Given the description of an element on the screen output the (x, y) to click on. 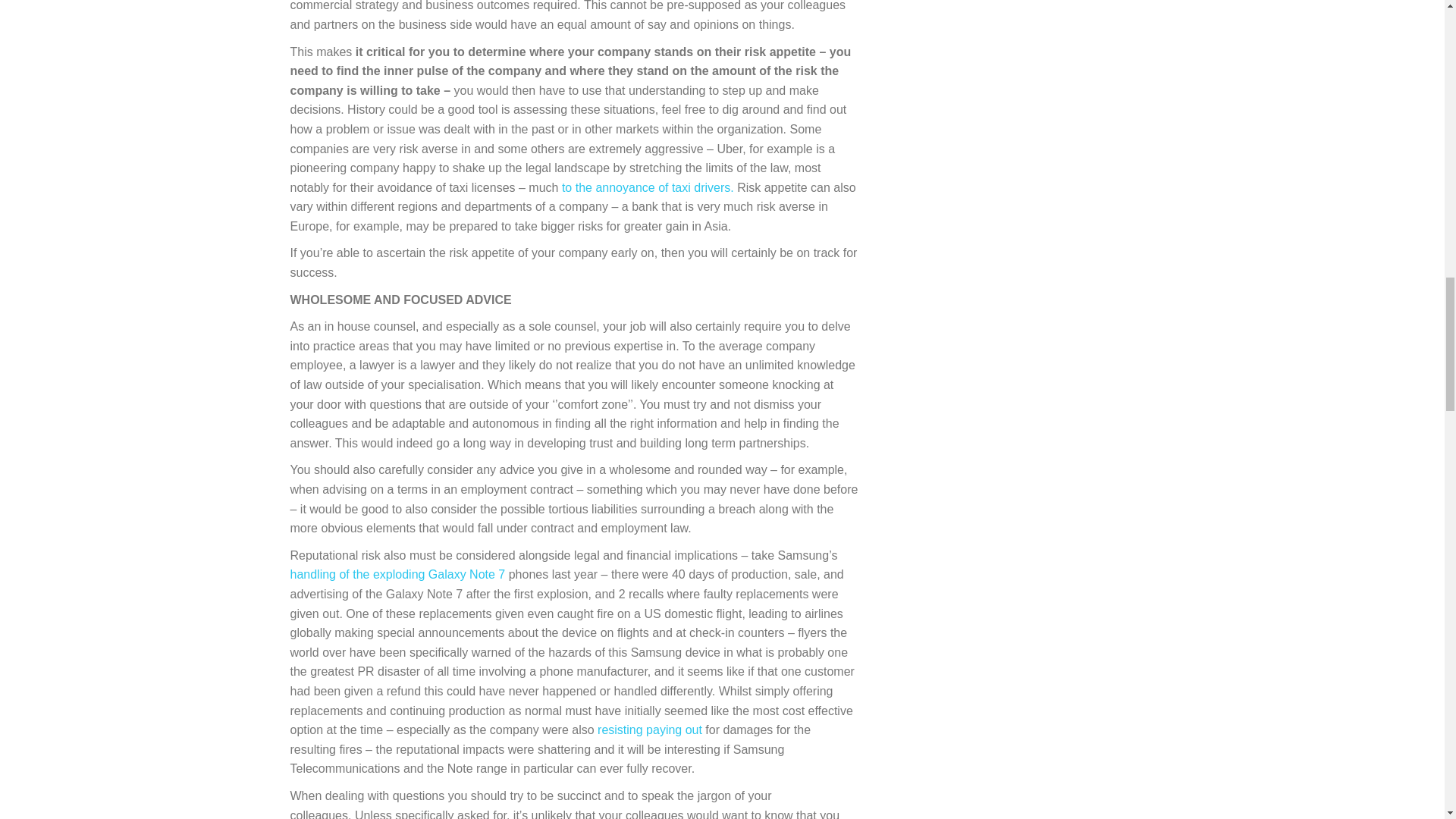
to the annoyance of taxi drivers. (647, 187)
handling of the exploding Galaxy Note 7 (397, 574)
resisting paying out (648, 729)
